Given the description of an element on the screen output the (x, y) to click on. 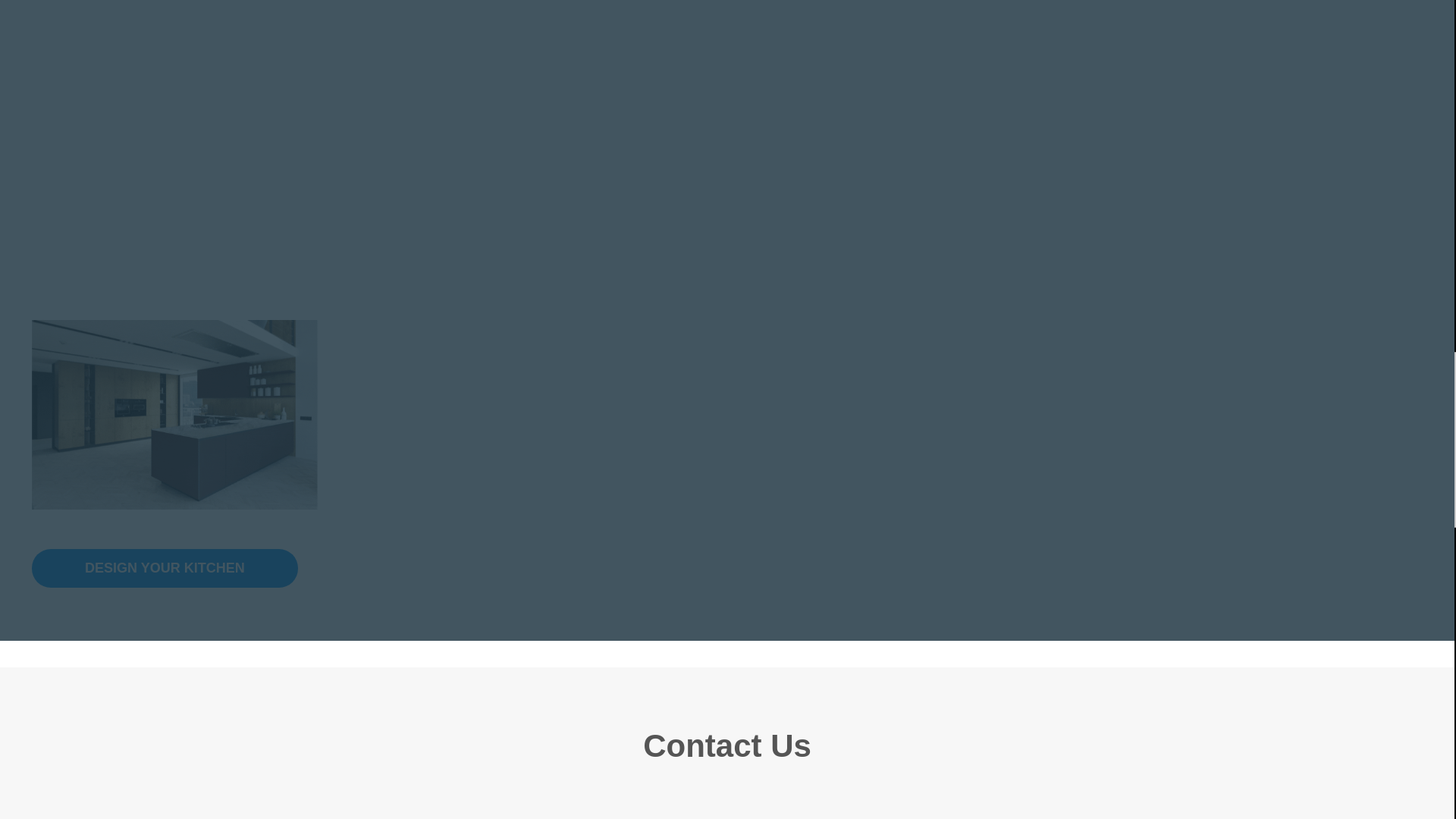
DESIGN YOUR KITCHEN (165, 568)
